Given the description of an element on the screen output the (x, y) to click on. 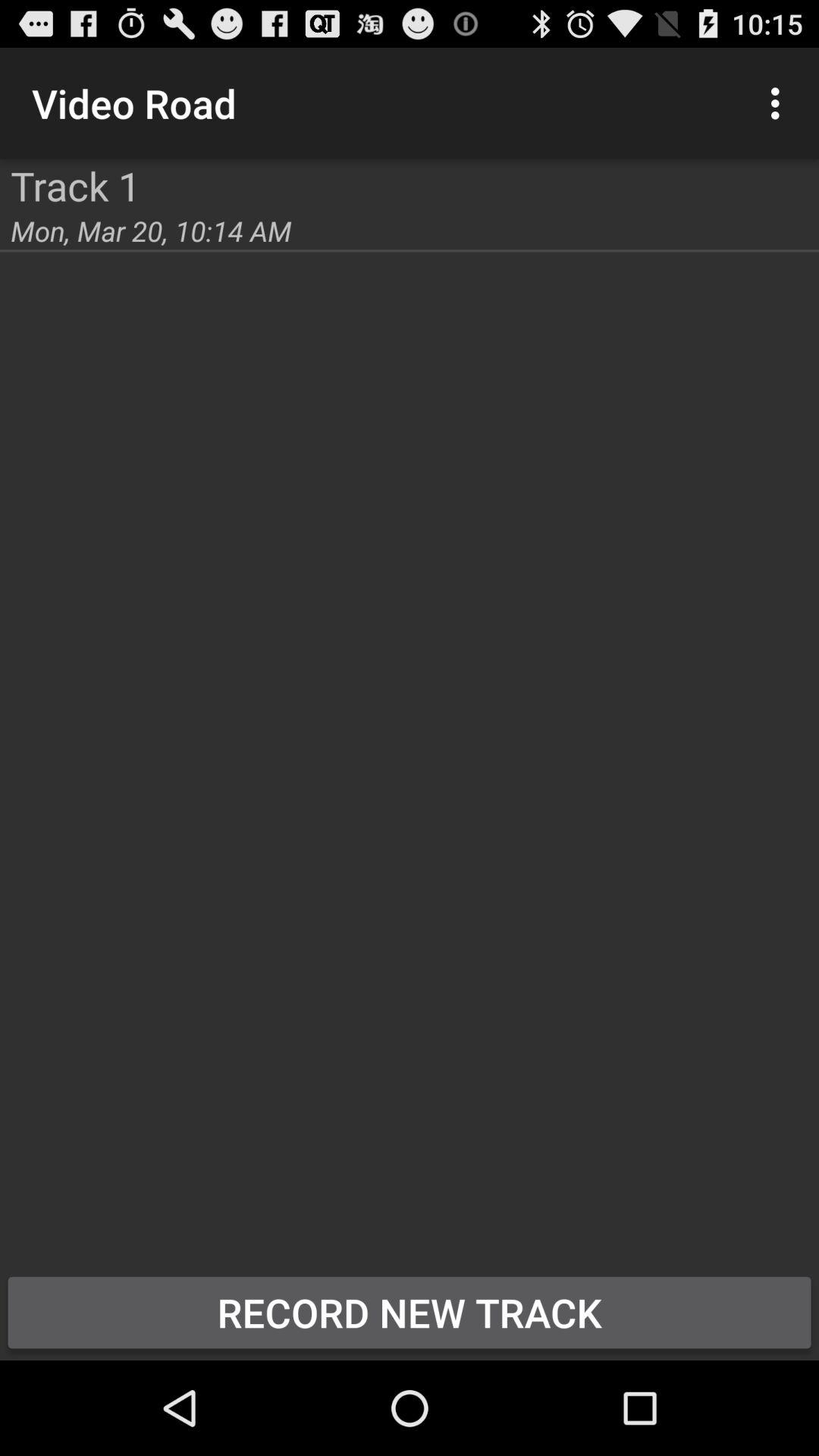
press the app below the video road icon (75, 185)
